Given the description of an element on the screen output the (x, y) to click on. 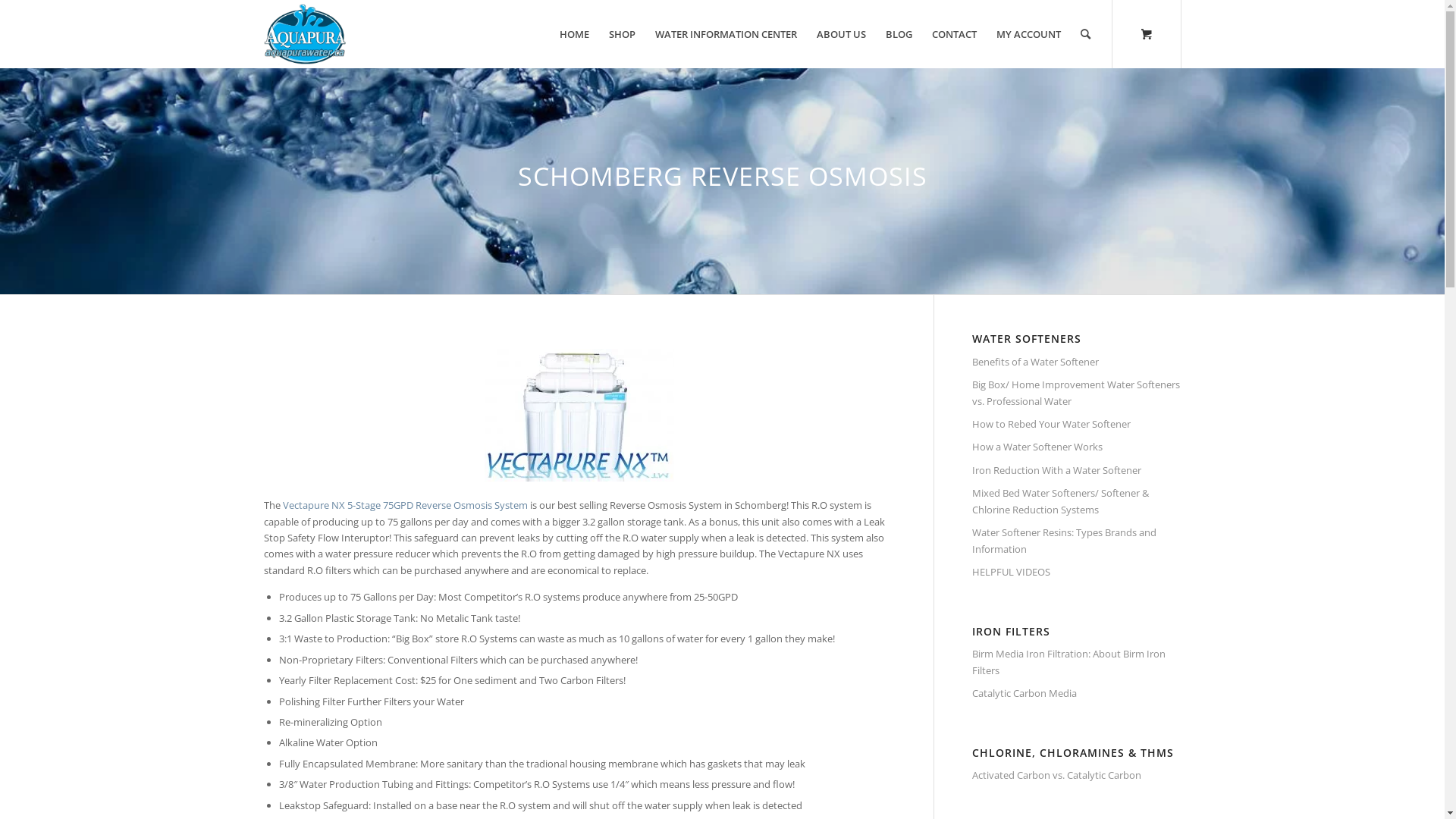
Water Softener Resins: Types Brands and Information Element type: text (1076, 541)
Catalytic Carbon Media Element type: text (1076, 693)
BLOG Element type: text (898, 34)
How to Rebed Your Water Softener Element type: text (1076, 424)
Benefits of a Water Softener Element type: text (1076, 362)
Iron Reduction With a Water Softener Element type: text (1076, 470)
Vectapure NX 5-Stage 75GPD Reverse Osmosis System Element type: text (404, 504)
WATER INFORMATION CENTER Element type: text (725, 34)
HOME Element type: text (573, 34)
Activated Carbon vs. Catalytic Carbon Element type: text (1076, 775)
ABOUT US Element type: text (840, 34)
SHOP Element type: text (622, 34)
How a Water Softener Works Element type: text (1076, 447)
Birm Media Iron Filtration: About Birm Iron Filters Element type: text (1076, 662)
HELPFUL VIDEOS Element type: text (1076, 572)
MY ACCOUNT Element type: text (1027, 34)
CONTACT Element type: text (954, 34)
